Given the description of an element on the screen output the (x, y) to click on. 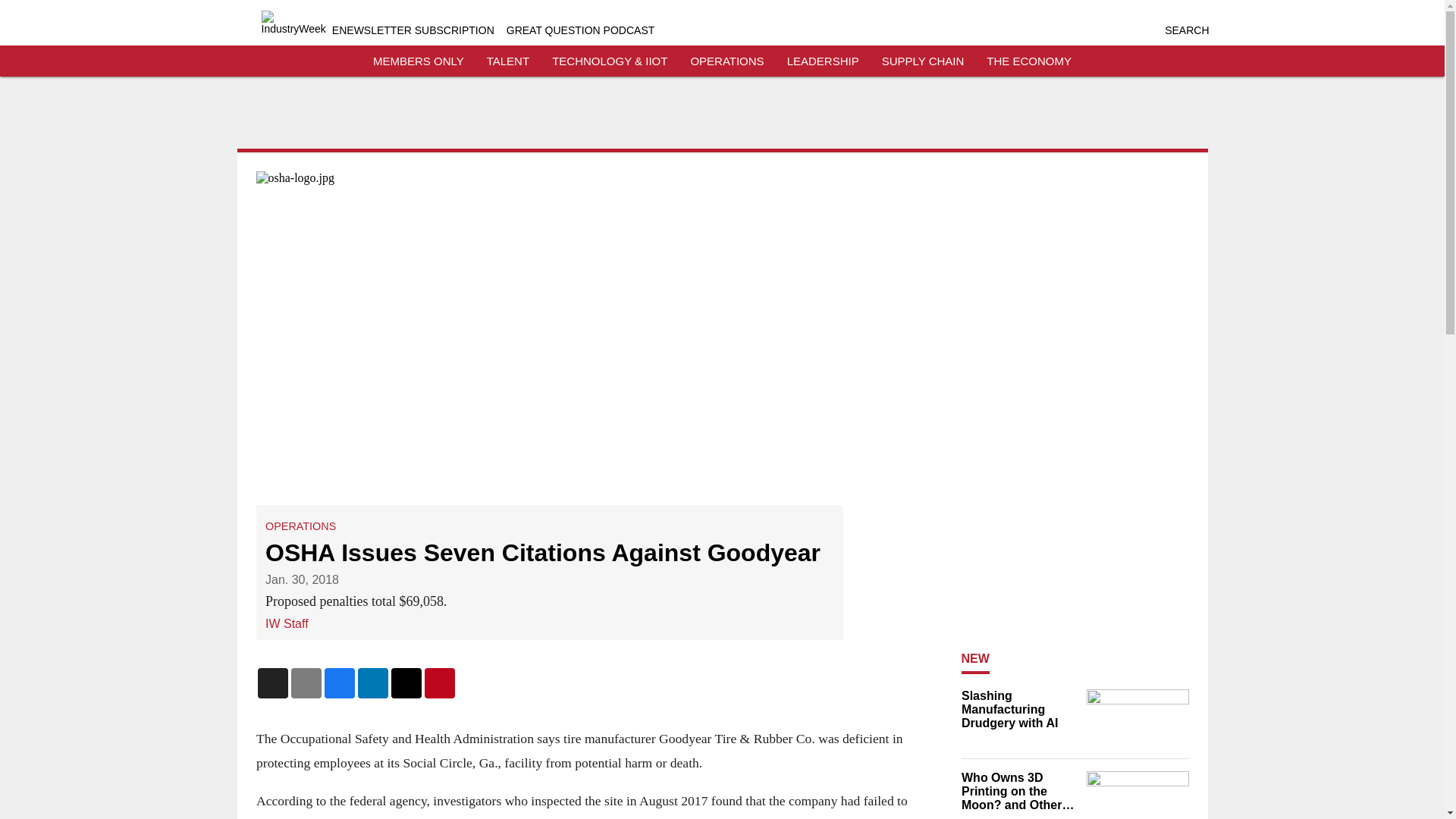
SEARCH (1186, 30)
IW Staff (286, 623)
THE ECONOMY (1029, 60)
Slashing Manufacturing Drudgery with AI (1019, 709)
MEMBERS ONLY (418, 60)
TALENT (507, 60)
LEADERSHIP (823, 60)
GREAT QUESTION PODCAST (580, 30)
OPERATIONS (726, 60)
